Given the description of an element on the screen output the (x, y) to click on. 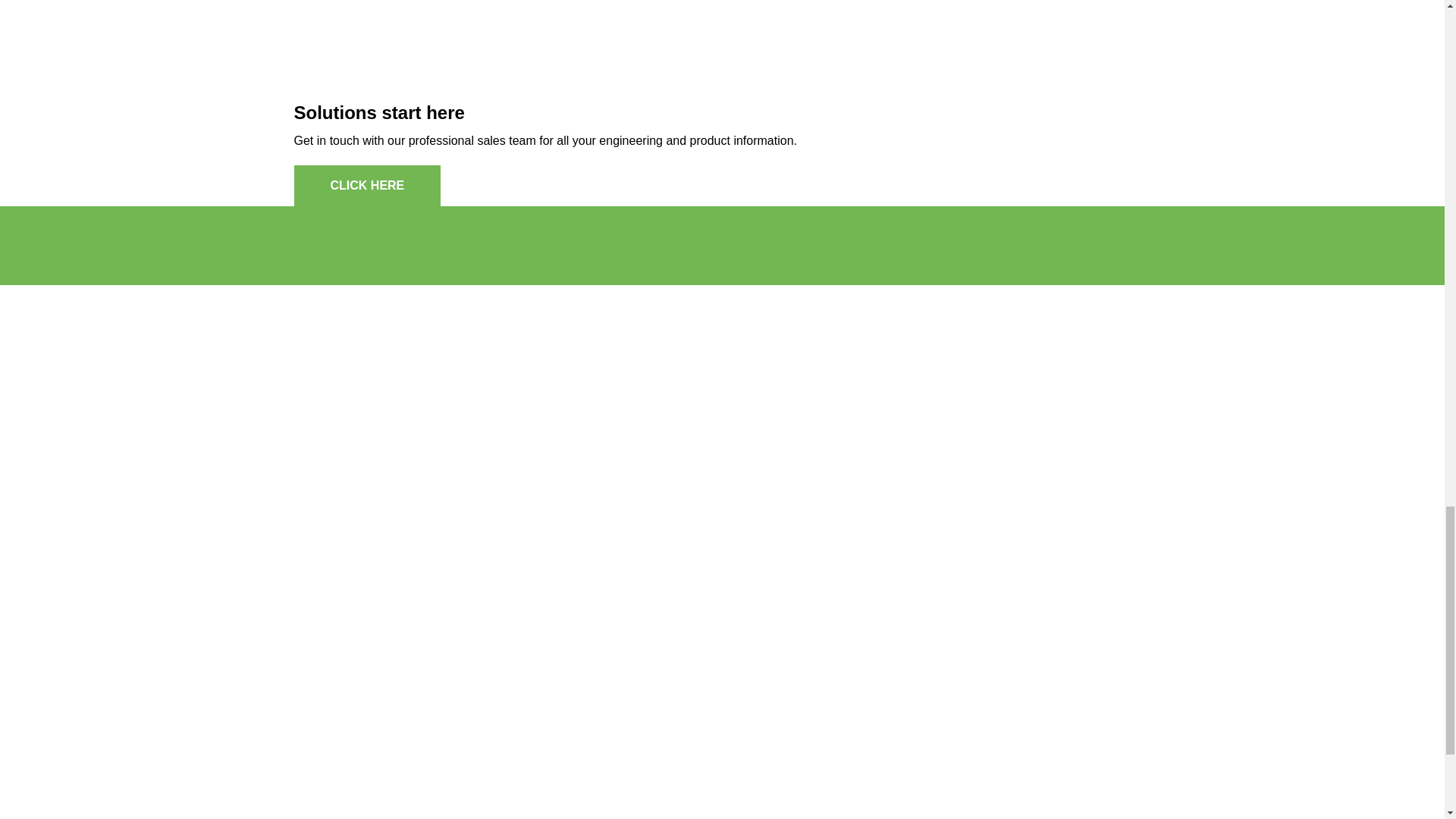
Enmin Vibratory Equipment (838, 243)
